Given the description of an element on the screen output the (x, y) to click on. 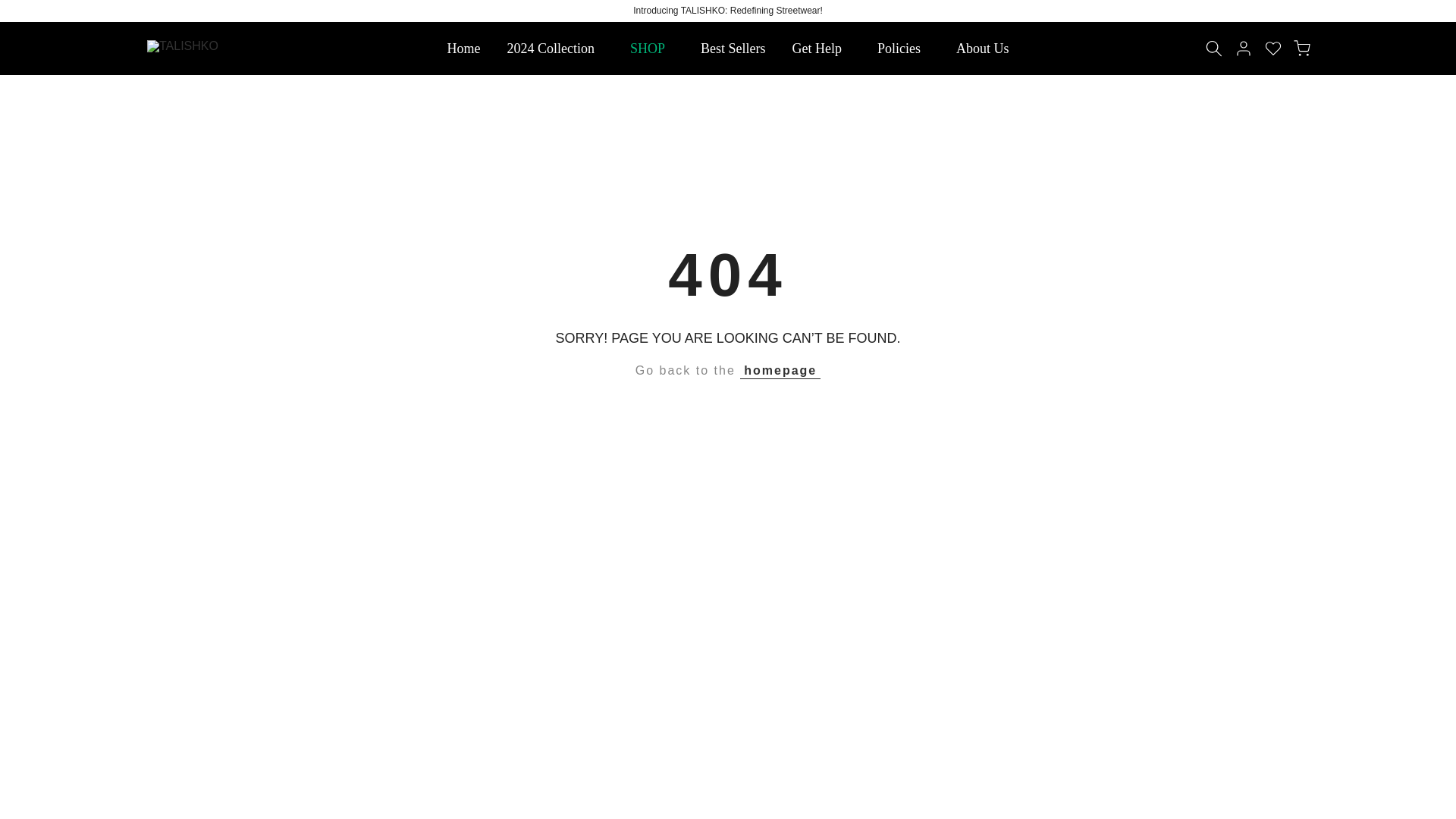
Policies (903, 47)
homepage (780, 370)
Best Sellers (732, 47)
2024 Collection (555, 47)
About Us (983, 47)
Home (463, 47)
Skip to content (10, 7)
Get Help (820, 47)
SHOP (651, 47)
